Given the description of an element on the screen output the (x, y) to click on. 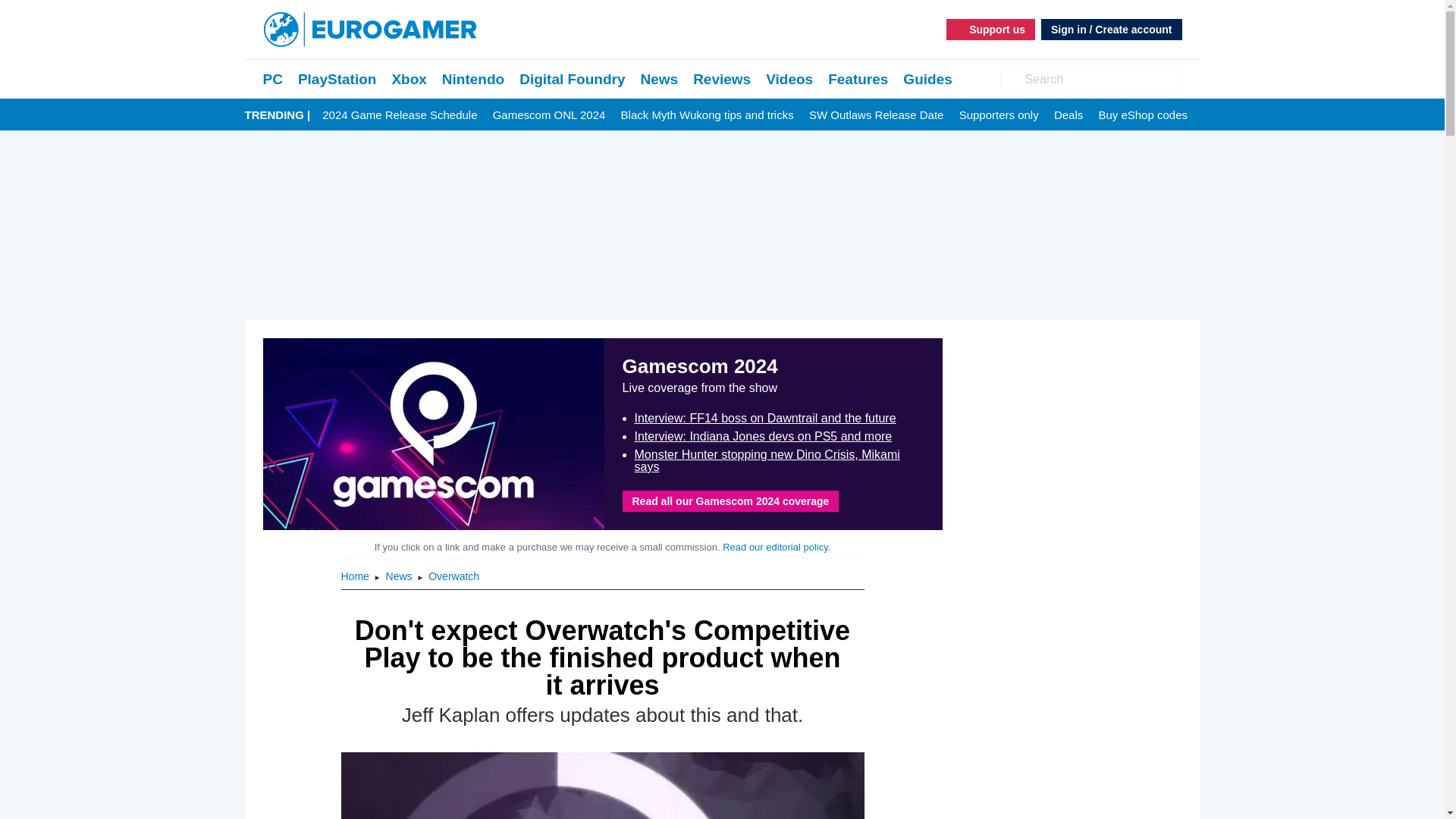
Reviews (722, 78)
Supporters only (999, 114)
PlayStation (336, 78)
News (399, 576)
Deals (1068, 114)
Gamescom 2024 (433, 433)
Nintendo (472, 78)
Guides (927, 78)
Monster Hunter stopping new Dino Crisis, Mikami says (766, 460)
2024 Game Release Schedule (399, 114)
